Given the description of an element on the screen output the (x, y) to click on. 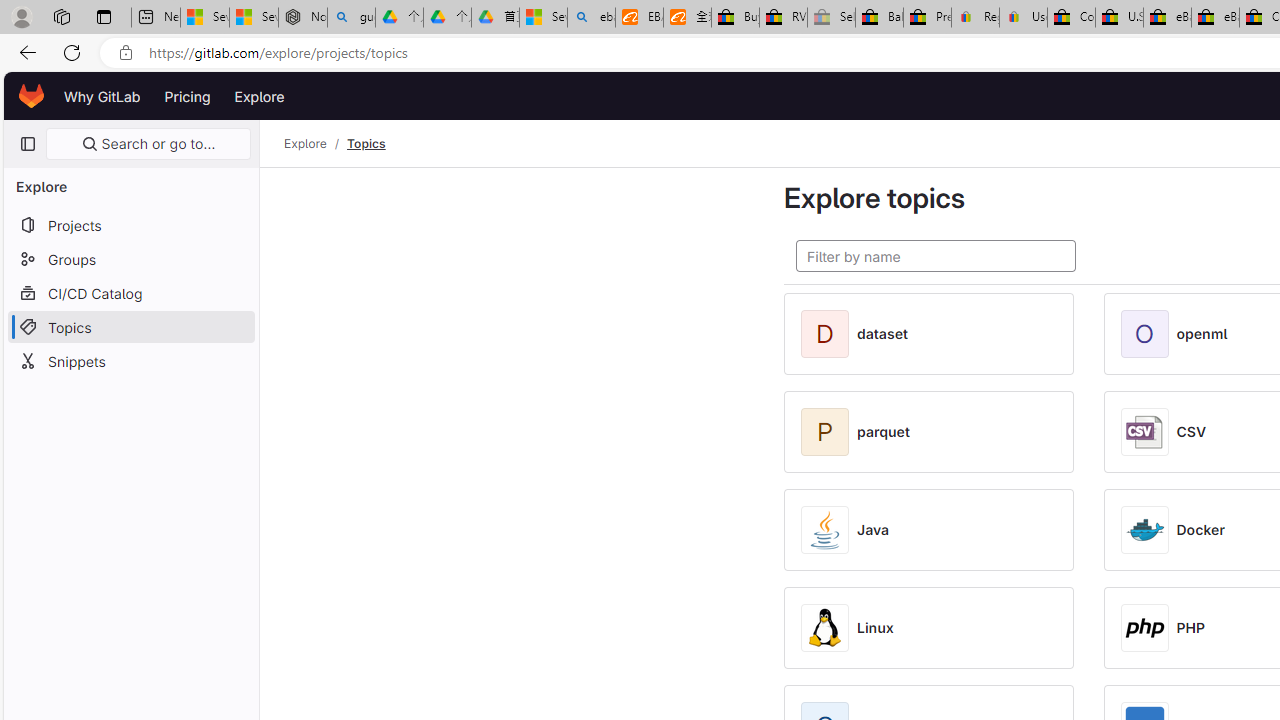
Filter by name (936, 255)
CI/CD Catalog (130, 292)
Buy Auto Parts & Accessories | eBay (735, 17)
P (829, 432)
O (1148, 334)
Baby Keepsakes & Announcements for sale | eBay (879, 17)
Why GitLab (102, 95)
Topics (366, 143)
Groups (130, 259)
User Privacy Notice | eBay (1023, 17)
Groups (130, 259)
